Given the description of an element on the screen output the (x, y) to click on. 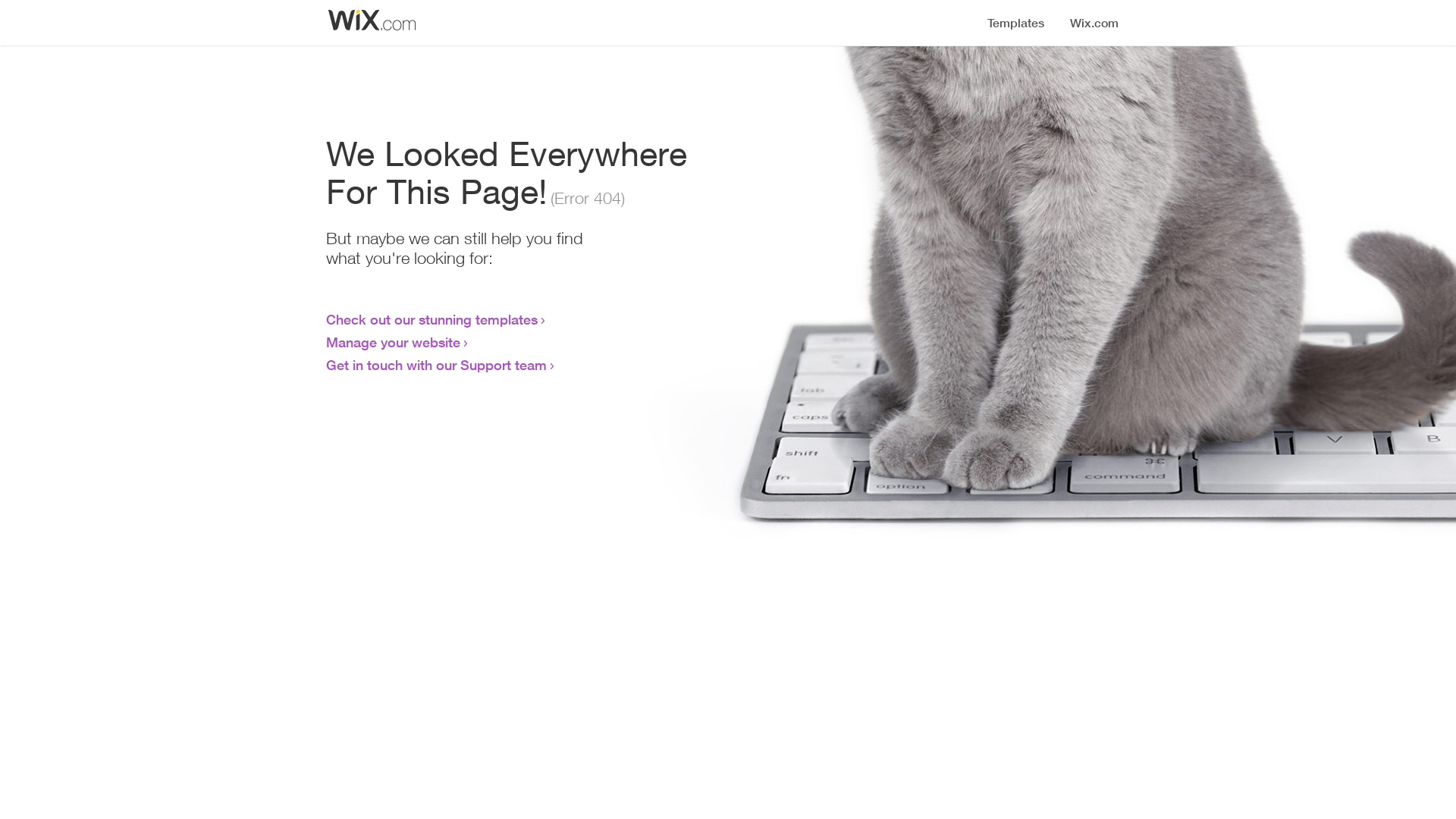
Get in touch with our Support team Element type: text (436, 364)
Check out our stunning templates Element type: text (431, 318)
Manage your website Element type: text (393, 341)
